Given the description of an element on the screen output the (x, y) to click on. 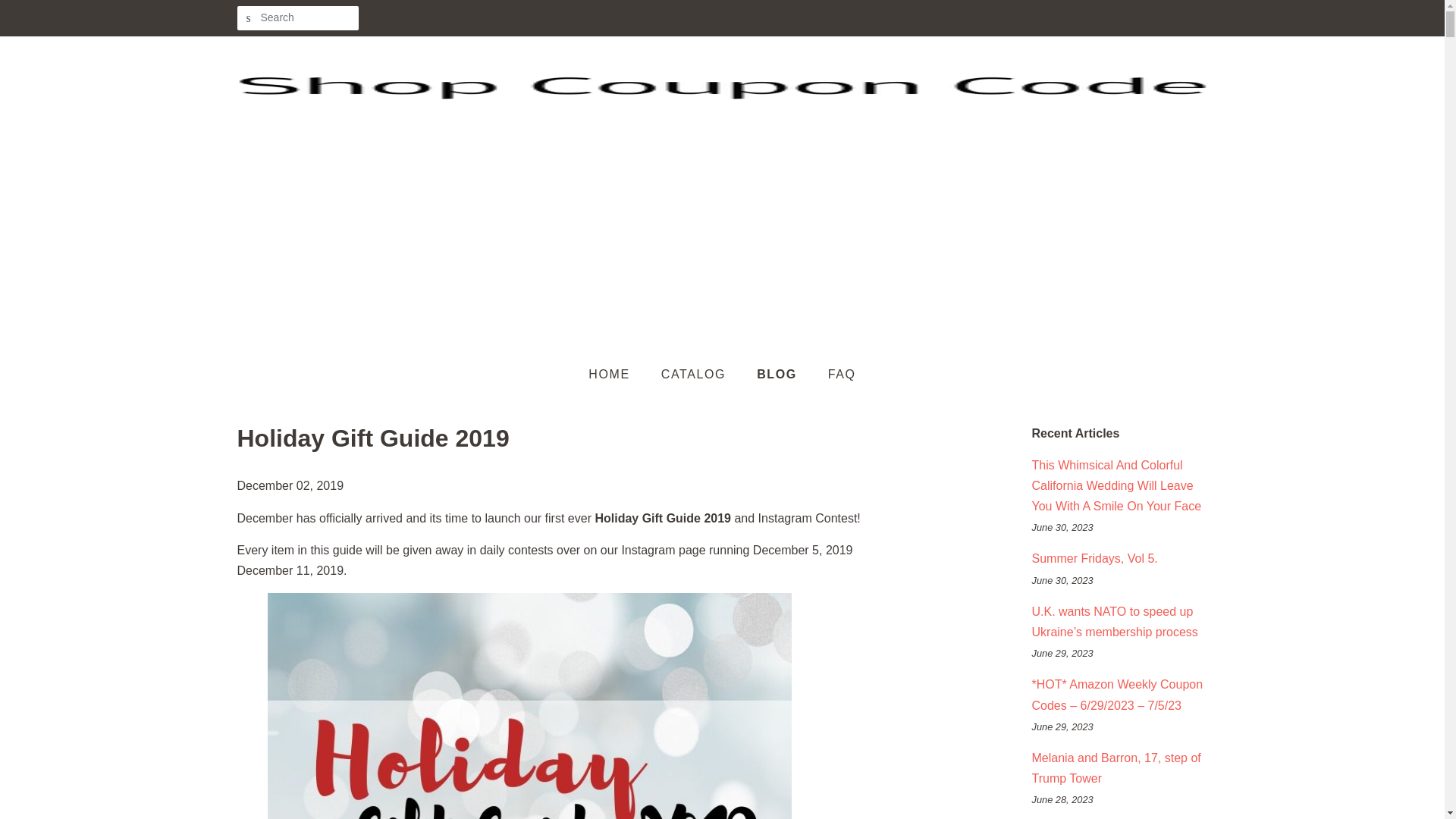
SEARCH (247, 18)
FAQ (836, 373)
Melania and Barron, 17, step of Trump Tower (1114, 767)
BLOG (778, 373)
Summer Fridays, Vol 5. (1093, 558)
HOME (616, 373)
CATALOG (695, 373)
